Given the description of an element on the screen output the (x, y) to click on. 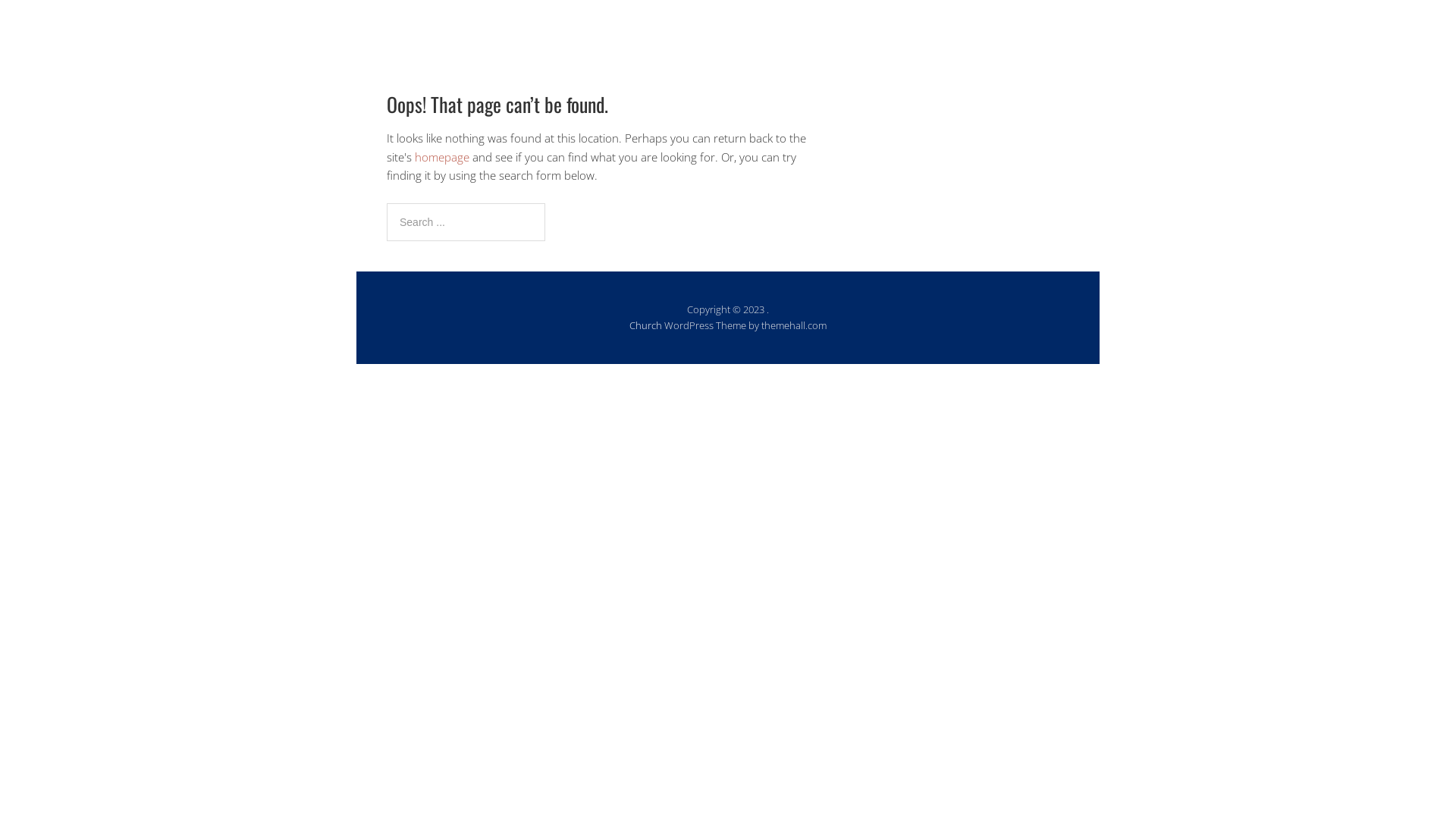
Search for: Element type: hover (465, 222)
homepage Element type: text (441, 156)
Search Element type: text (544, 202)
Church Element type: text (645, 325)
